Given the description of an element on the screen output the (x, y) to click on. 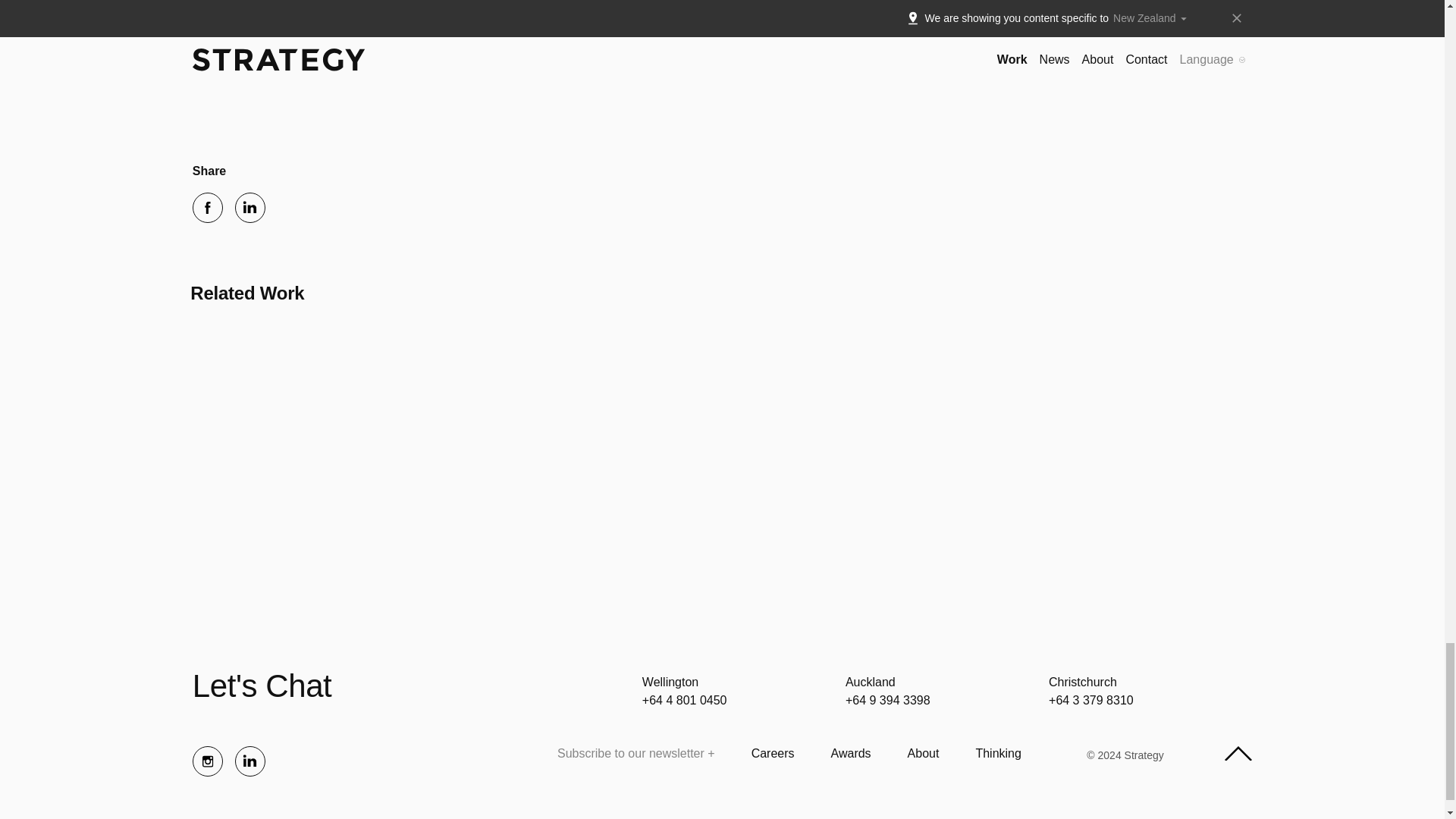
Auckland (870, 682)
Wellington (670, 682)
Christchurch (1082, 682)
